Given the description of an element on the screen output the (x, y) to click on. 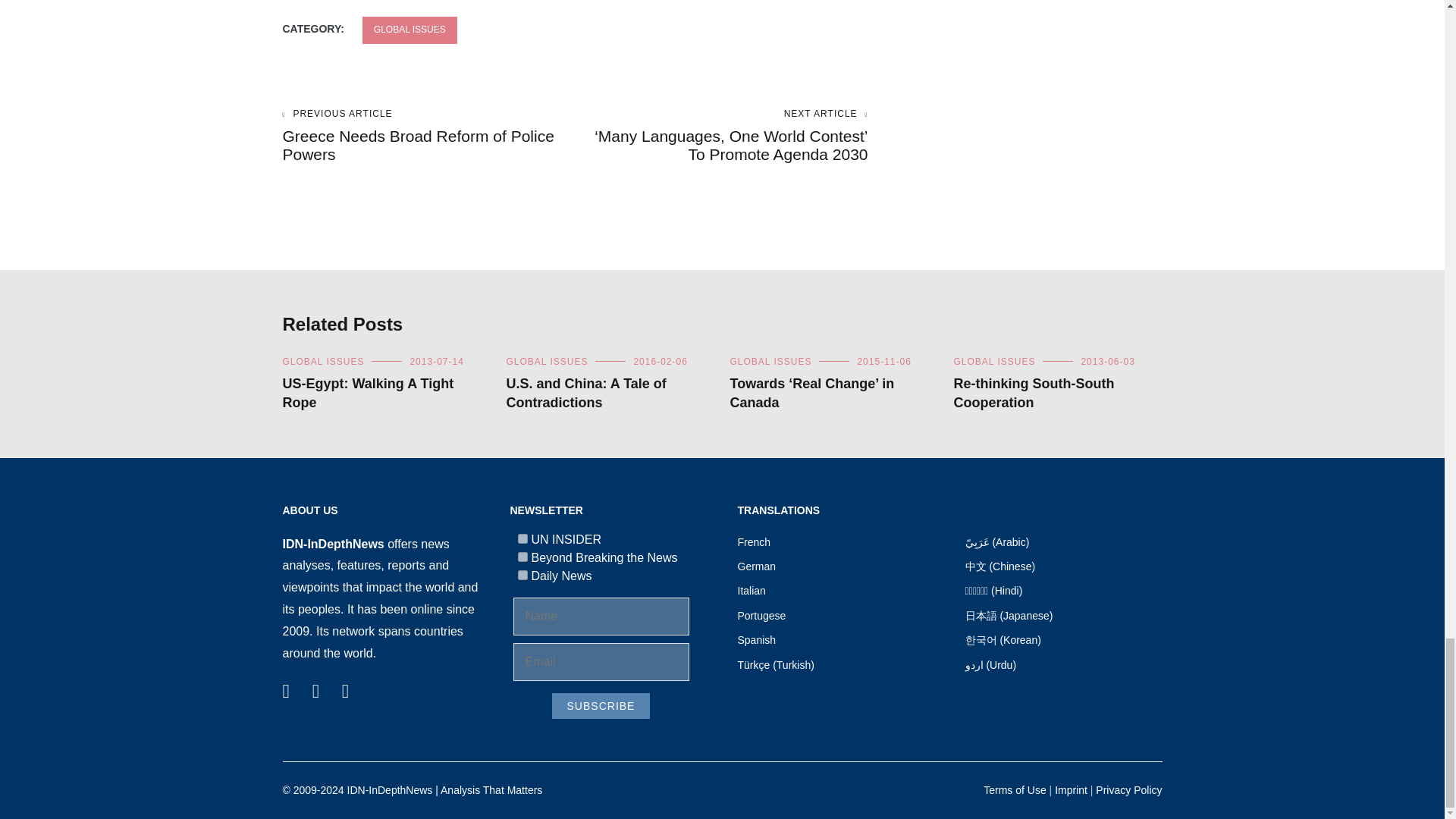
7 (521, 538)
Imprint (1070, 789)
10 (521, 574)
Terms of Use (1014, 789)
9 (521, 556)
